Given the description of an element on the screen output the (x, y) to click on. 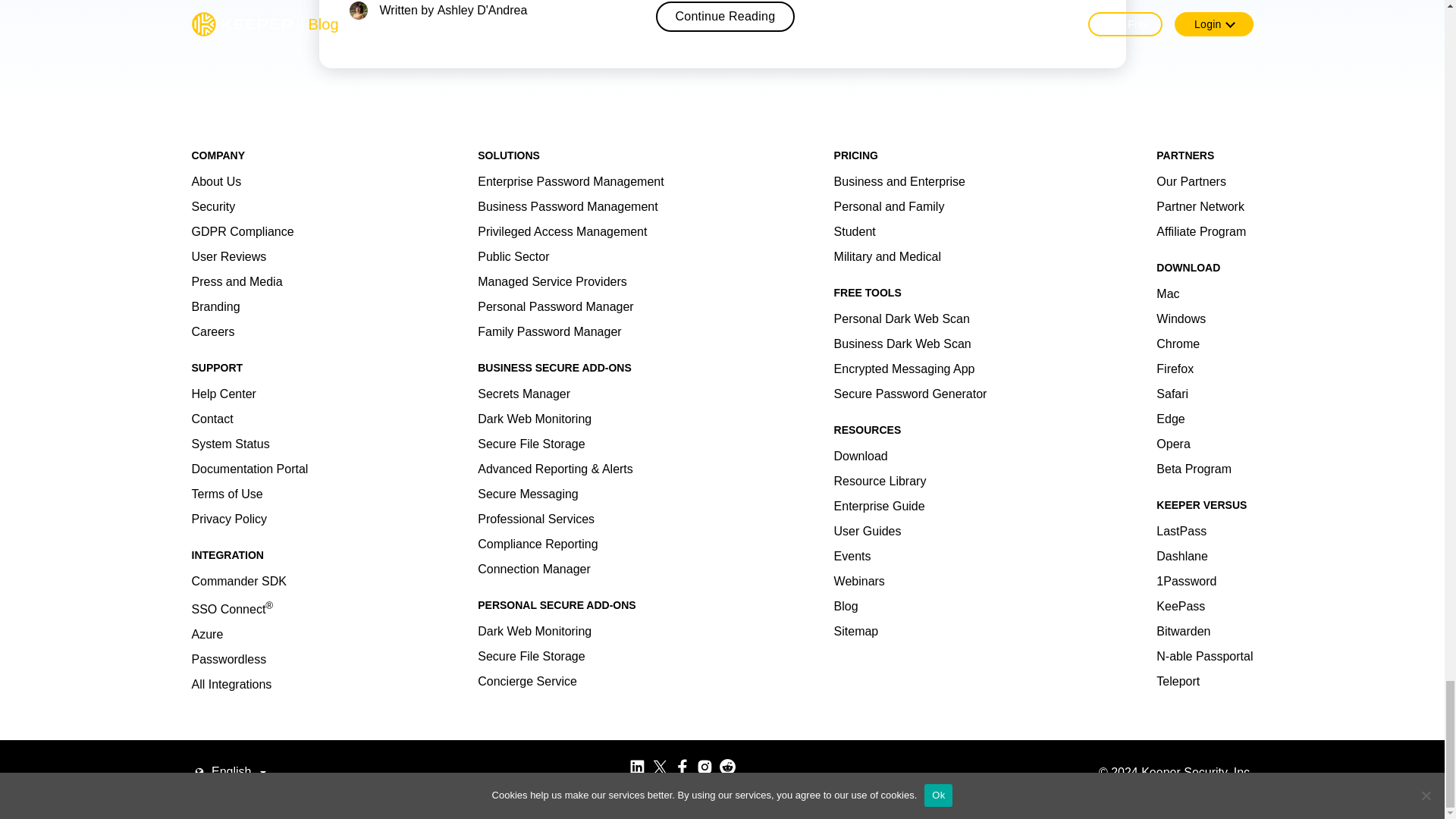
About Us (215, 181)
User Reviews (228, 256)
Press and Media (236, 281)
GDPR Compliance (242, 231)
D'Andrea Professional Headshot (357, 10)
Security (212, 205)
Branding (215, 306)
